Given the description of an element on the screen output the (x, y) to click on. 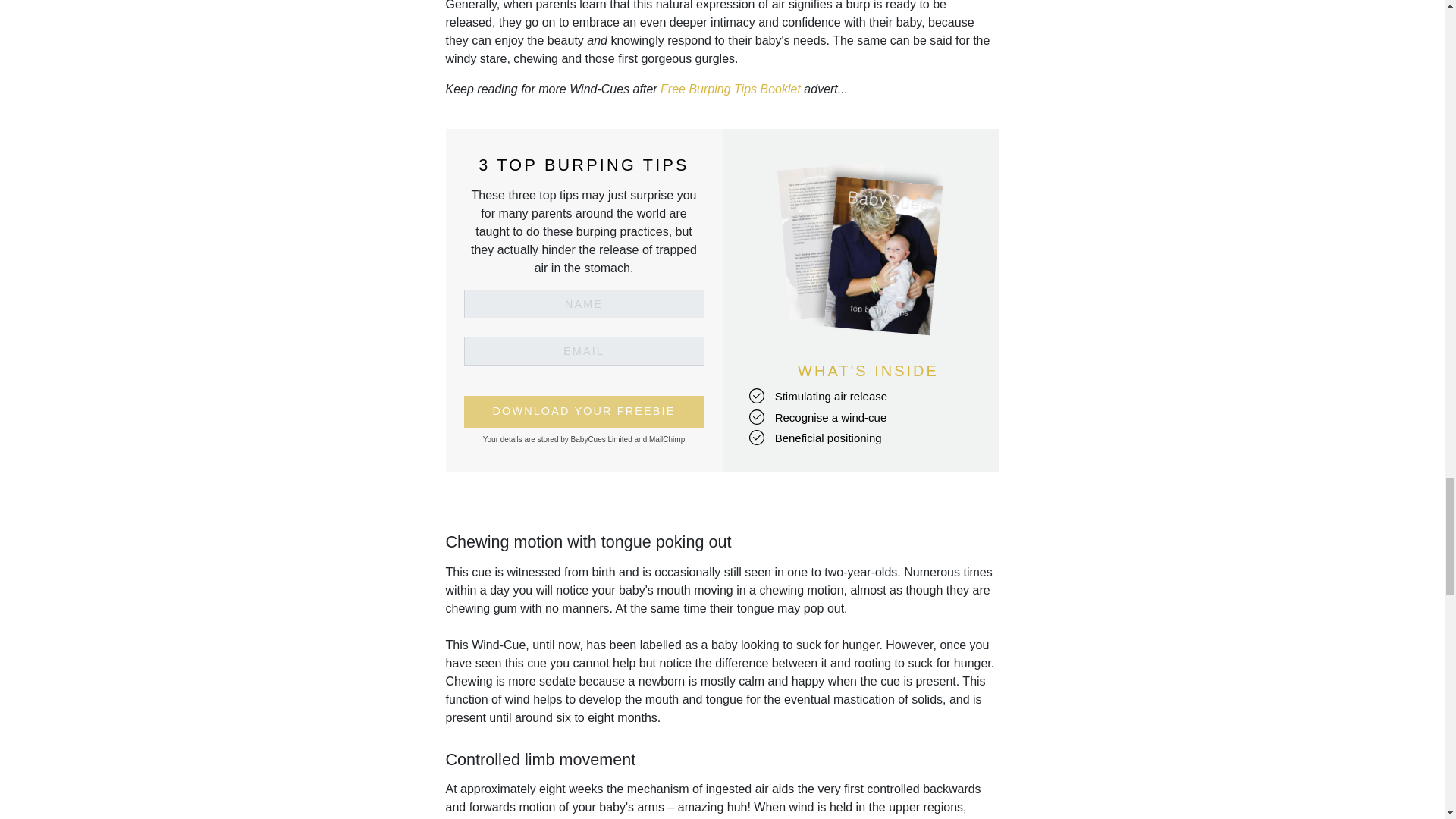
Download your freebie (584, 411)
